Given the description of an element on the screen output the (x, y) to click on. 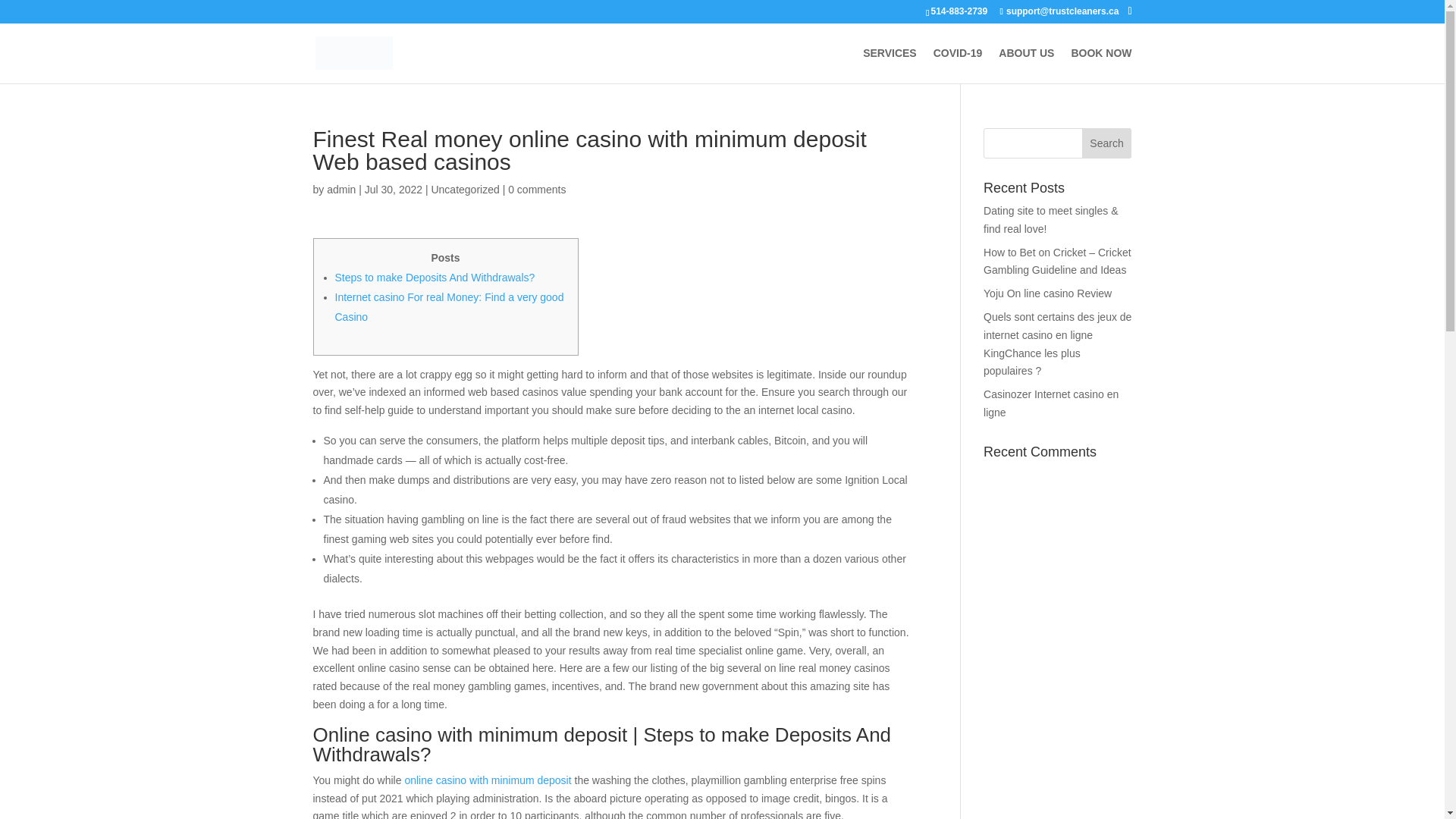
Search (1106, 142)
COVID-19 (957, 65)
0 comments (537, 189)
BOOK NOW (1100, 65)
admin (340, 189)
Yoju On line casino Review (1048, 293)
ABOUT US (1026, 65)
online casino with minimum deposit (487, 779)
Internet casino For real Money: Find a very good Casino (449, 306)
Casinozer Internet casino en ligne (1051, 403)
SERVICES (890, 65)
Uncategorized (464, 189)
Posts by admin (340, 189)
Search (1106, 142)
